Given the description of an element on the screen output the (x, y) to click on. 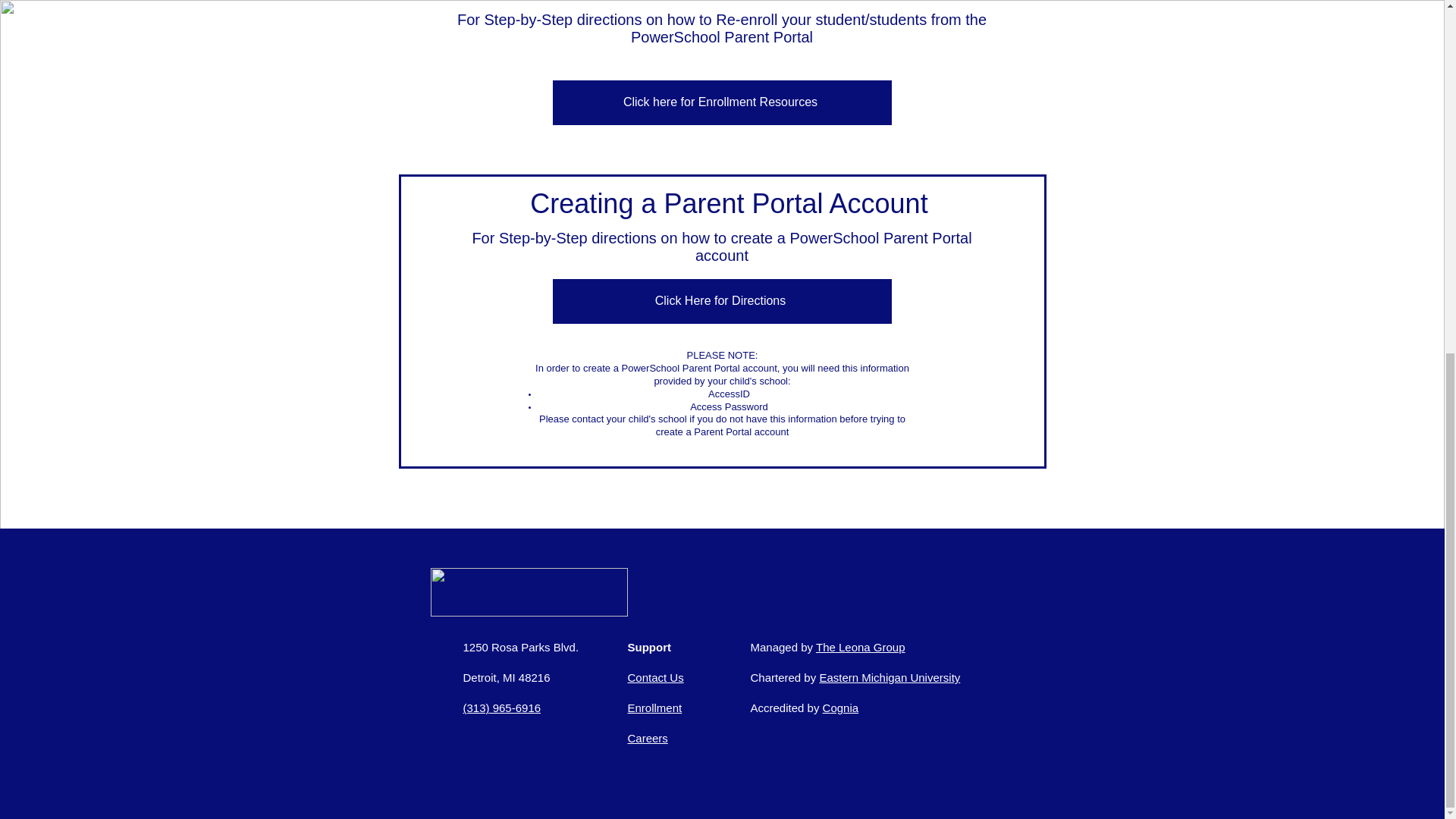
Cognia (840, 707)
Enrollment (654, 707)
The Leona Group (860, 646)
Careers (647, 738)
Eastern Michigan University (888, 676)
Click here for Enrollment Resources (721, 102)
Contact Us (655, 676)
DPSA White Horizontal Logo.png (528, 592)
Click Here for Directions (721, 301)
